Given the description of an element on the screen output the (x, y) to click on. 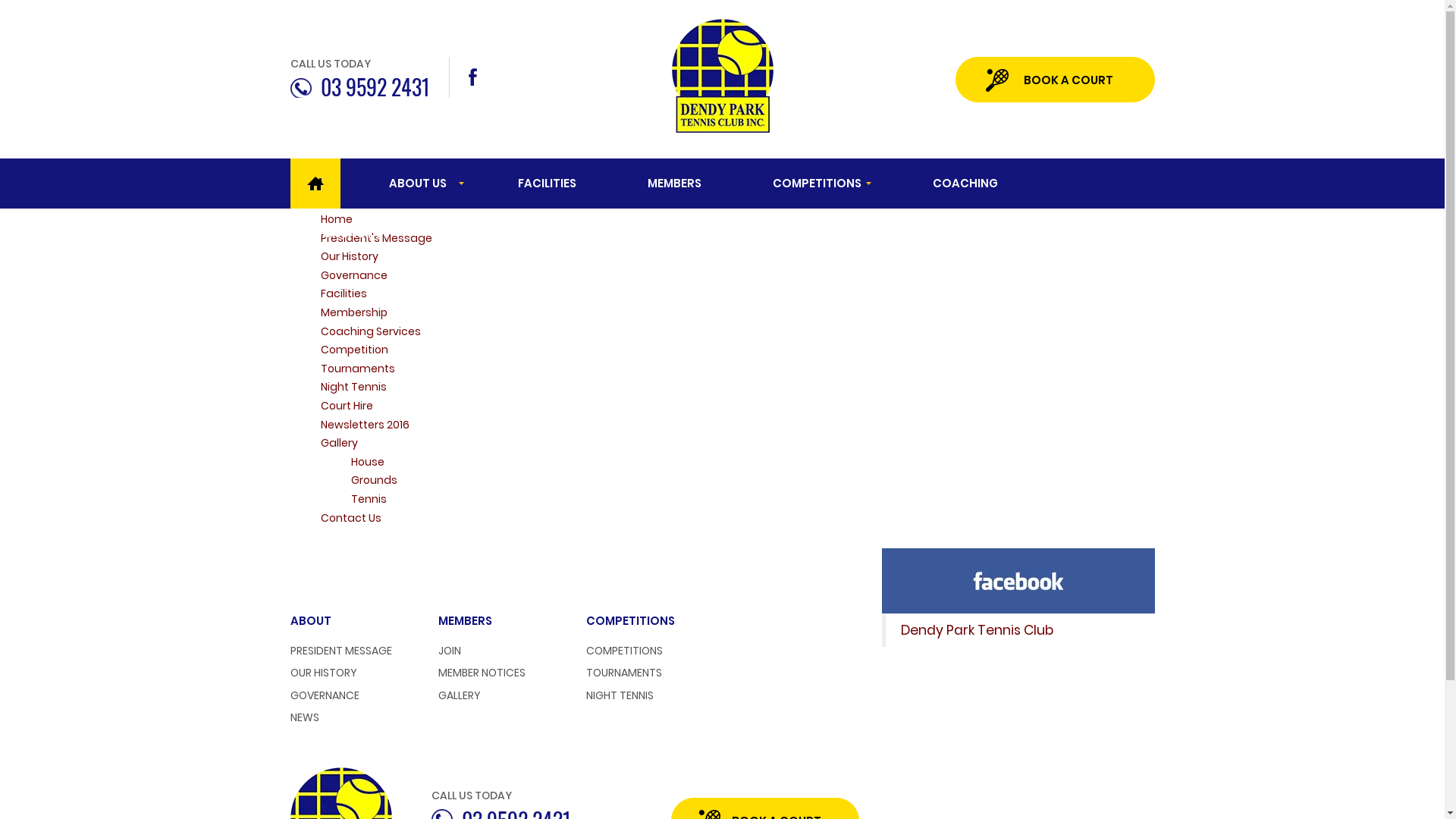
TOURNAMENTS Element type: text (623, 672)
facebook Element type: text (474, 77)
ABOUT US Element type: text (416, 183)
OUR HISTORY Element type: text (322, 672)
Competition Element type: text (353, 349)
Tournaments Element type: text (357, 368)
NEWS Element type: text (303, 716)
Gallery Element type: text (338, 442)
GALLERY Element type: text (459, 694)
CONTACT US Element type: text (350, 233)
Court Hire Element type: text (346, 405)
Home Element type: text (335, 218)
MEMBERS Element type: text (674, 183)
COMPETITIONS Element type: text (816, 183)
President's Message Element type: text (375, 237)
House Element type: text (366, 461)
Tennis Element type: text (367, 498)
FACILITIES Element type: text (546, 183)
Contact Us Element type: text (350, 516)
MEMBER NOTICES Element type: text (481, 672)
BOOK A COURT Element type: text (1054, 79)
JOIN Element type: text (449, 650)
Governance Element type: text (353, 274)
Night Tennis Element type: text (352, 386)
Membership Element type: text (353, 312)
COACHING Element type: text (965, 183)
Coaching Services Element type: text (370, 330)
HOME Element type: text (314, 183)
PRESIDENT MESSAGE Element type: text (340, 650)
03 9592 2431 Element type: text (359, 85)
GOVERNANCE Element type: text (323, 694)
COMPETITIONS Element type: text (623, 650)
Our History Element type: text (348, 255)
Dendy Park Tennis Club Element type: text (976, 630)
Newsletters 2016 Element type: text (364, 424)
Facilities Element type: text (343, 293)
NIGHT TENNIS Element type: text (618, 694)
Grounds Element type: text (373, 479)
